Given the description of an element on the screen output the (x, y) to click on. 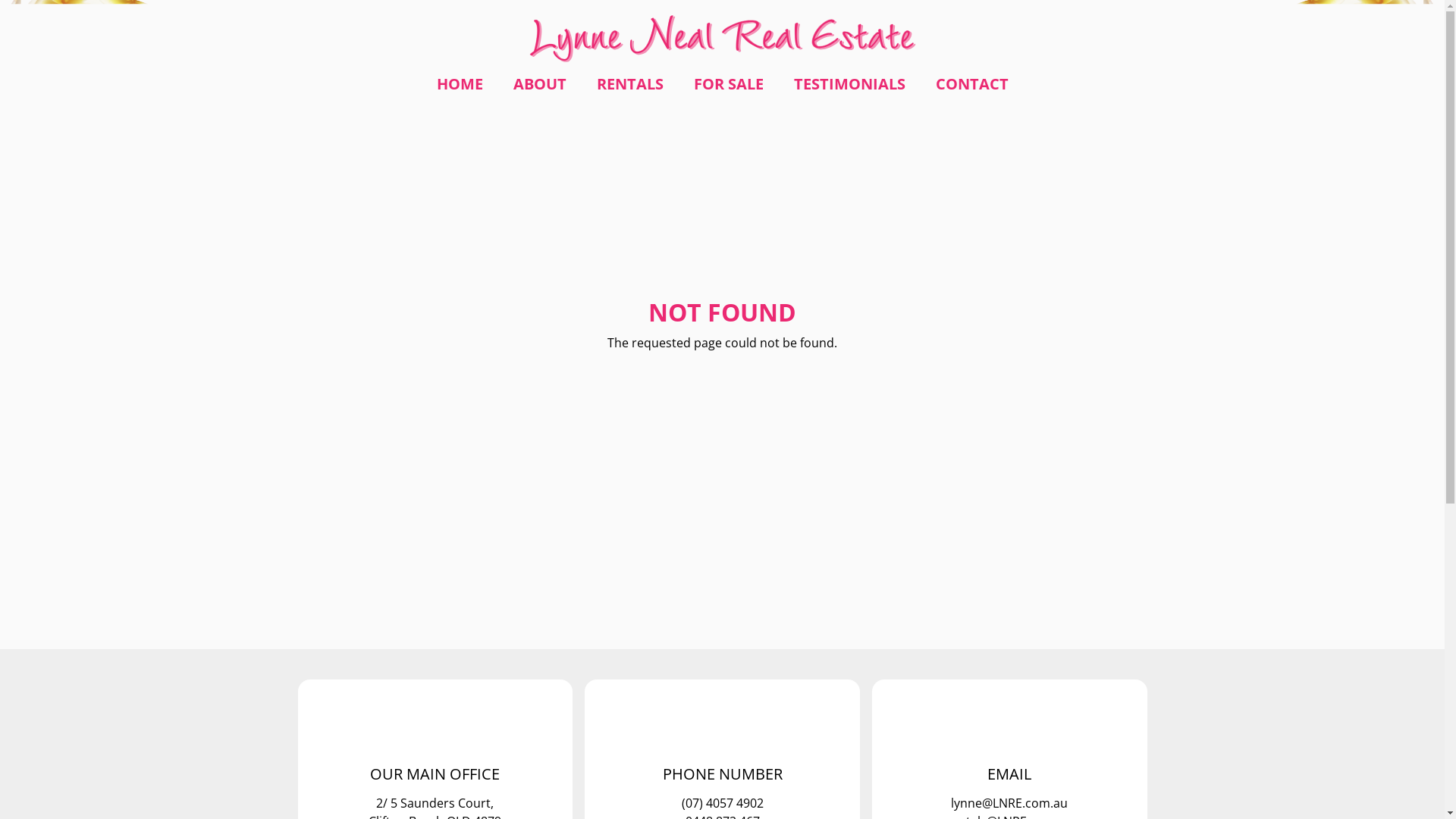
RENTALS Element type: text (628, 84)
HOME Element type: text (459, 84)
ABOUT Element type: text (538, 84)
TESTIMONIALS Element type: text (848, 84)
FOR SALE Element type: text (727, 84)
CONTACT Element type: text (971, 84)
